Given the description of an element on the screen output the (x, y) to click on. 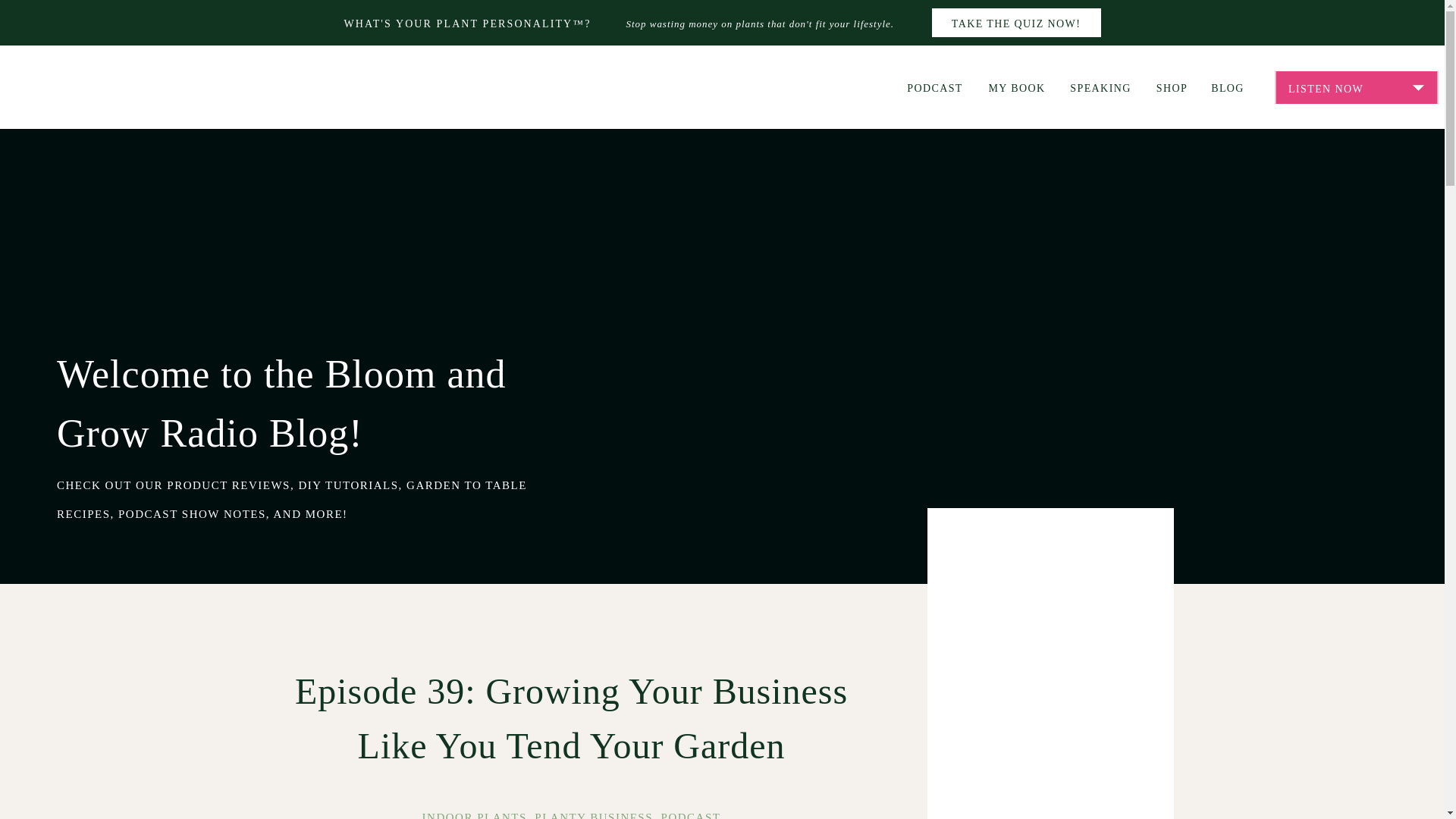
PODCAST (934, 86)
BLOG (1227, 86)
Stop wasting money on plants that don't fit your lifestyle. (770, 23)
LISTEN NOW (1355, 87)
PLANTY BUSINESS (593, 815)
TAKE THE QUIZ NOW! (1016, 22)
SPEAKING (1100, 86)
MY BOOK (1016, 86)
SHOP (1172, 86)
PODCAST (690, 815)
